Given the description of an element on the screen output the (x, y) to click on. 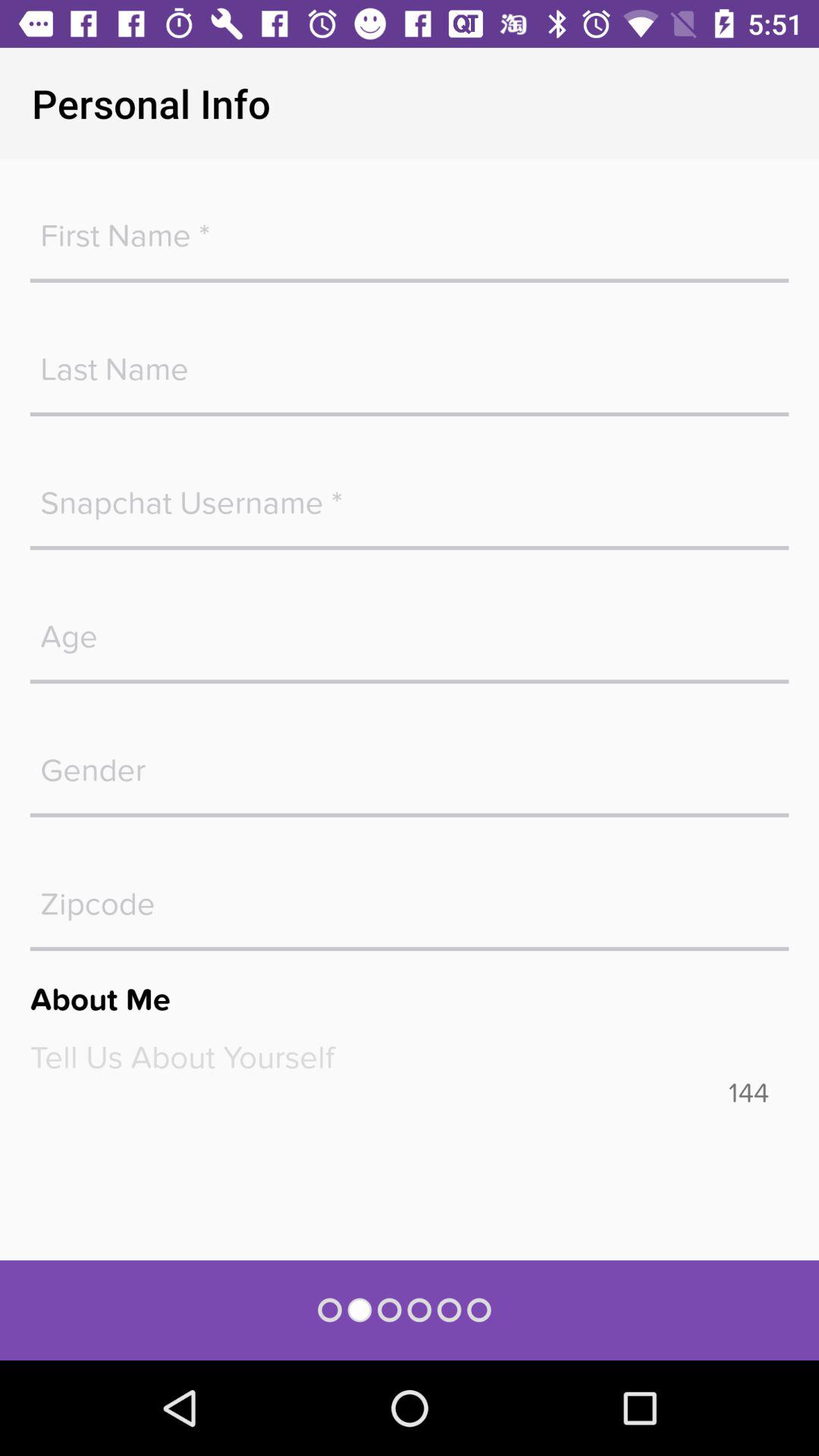
enter name field (409, 361)
